Given the description of an element on the screen output the (x, y) to click on. 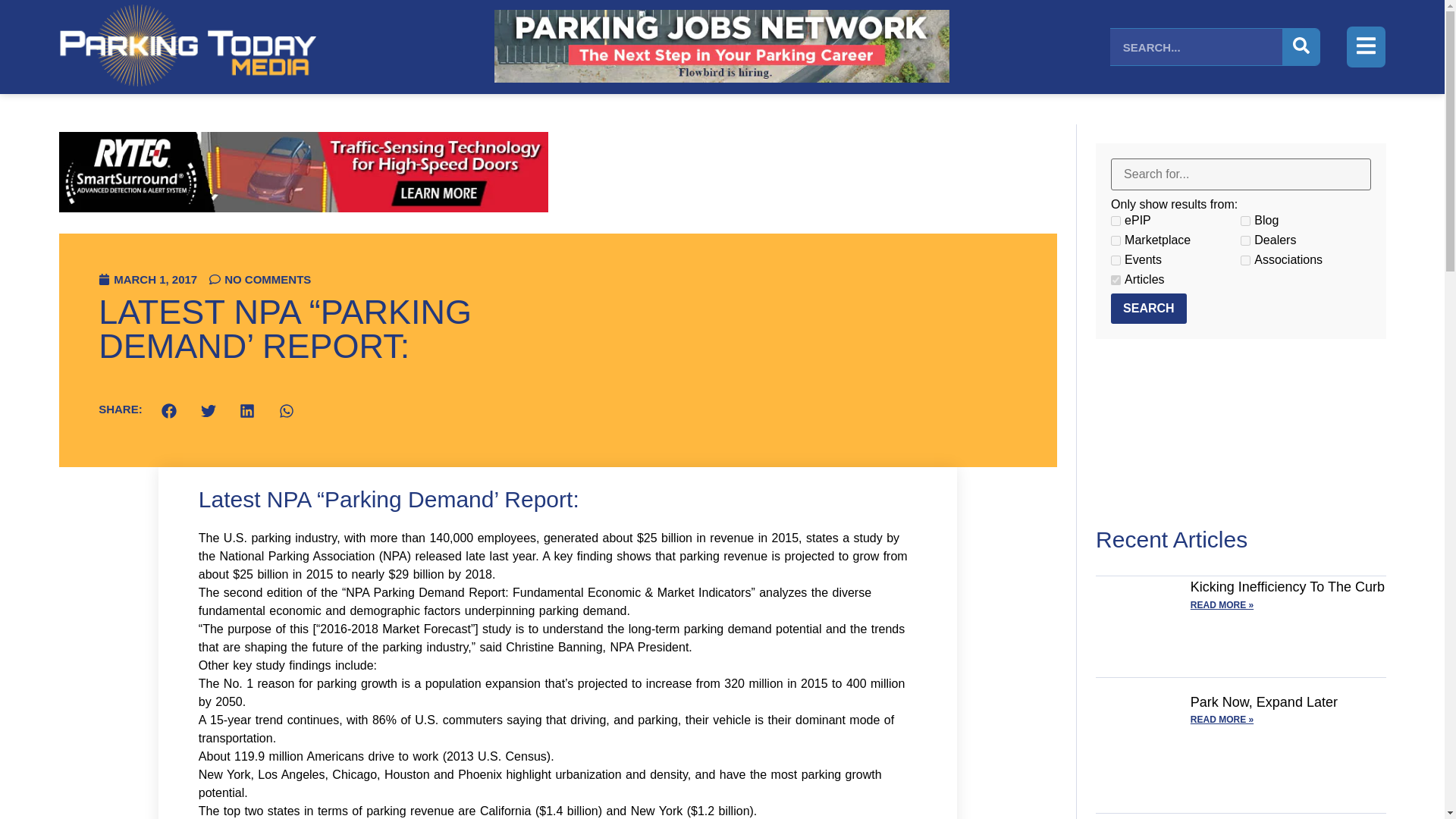
Park Now, Expand Later (1264, 702)
Blog (1245, 221)
Marketplace (1115, 240)
Associations (1245, 260)
Search (1148, 308)
NO COMMENTS (260, 279)
Events (1115, 260)
Search (1148, 308)
ePIP (1115, 221)
Articles (1115, 280)
